Given the description of an element on the screen output the (x, y) to click on. 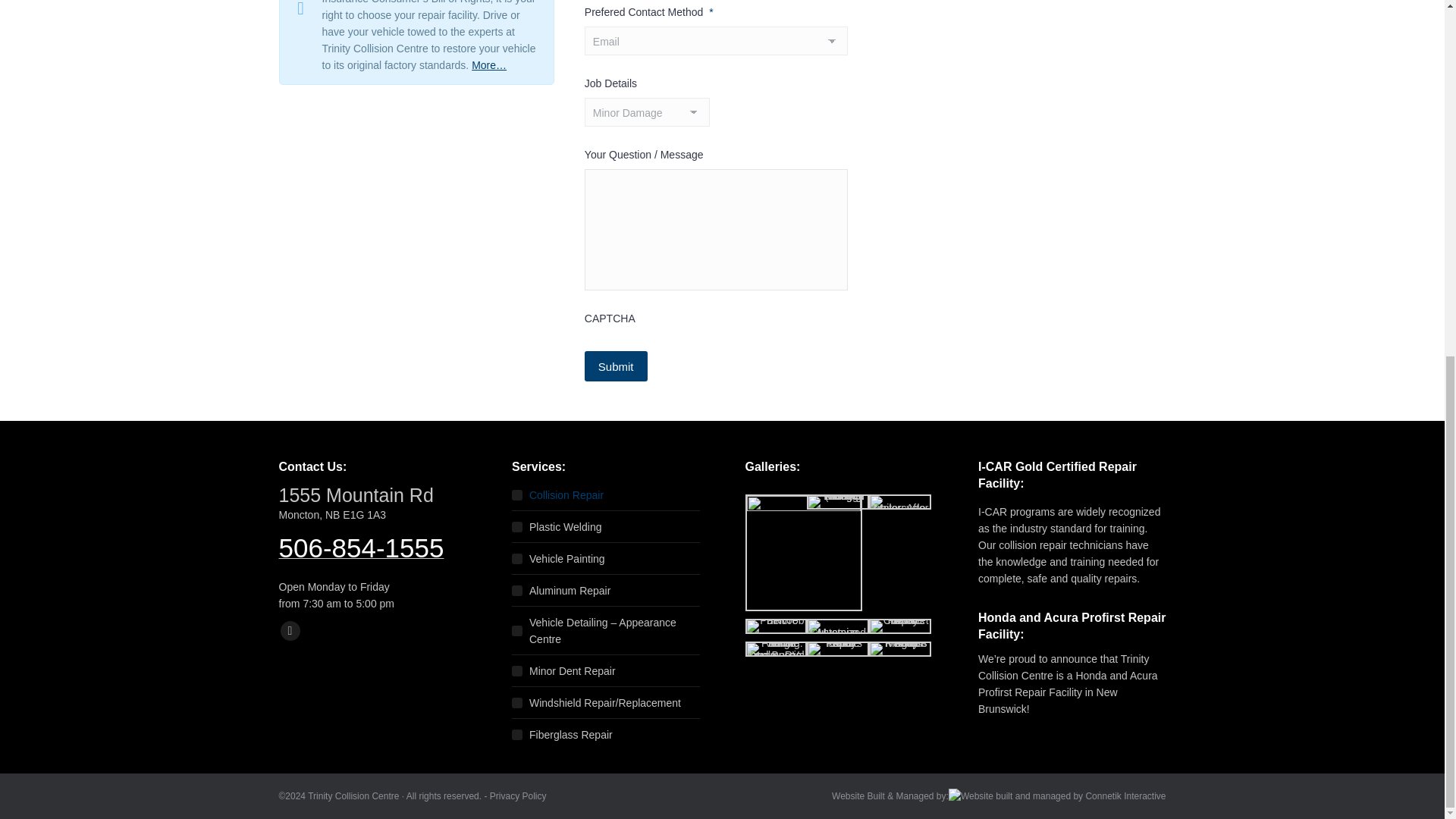
Submit (616, 366)
Chevrolet HHR: Before Auto Body Repairs (900, 626)
moncton-auto-body-shop-image-4 (802, 552)
RV: Before Paint Job (775, 626)
Ford F-150: Before Auto Body Repairs (837, 648)
Facebook page opens in new window (290, 630)
Motorcycle Trailer: After (900, 501)
Moncton Auto Body Paint Shop Work in Progress (900, 648)
Customized Mustang (837, 626)
